Given the description of an element on the screen output the (x, y) to click on. 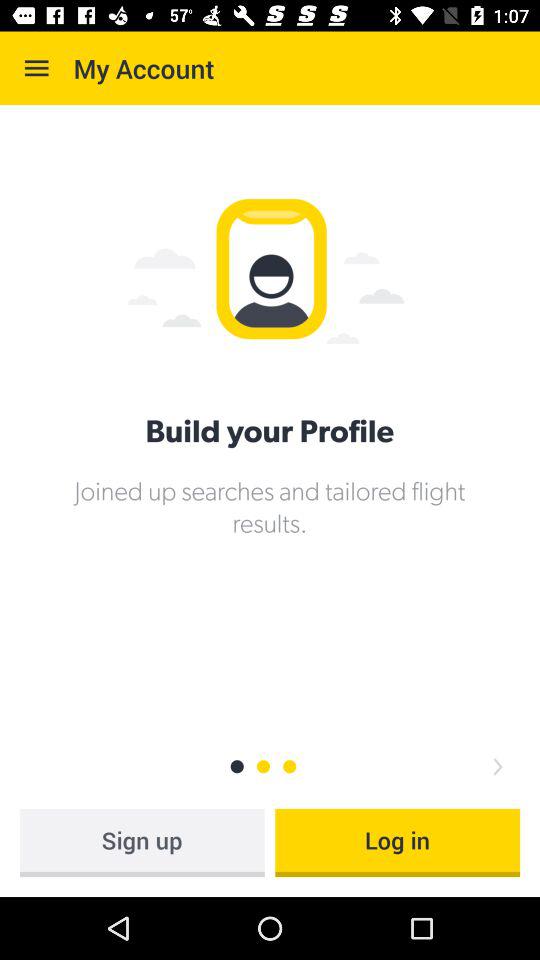
select item next to the log in item (141, 842)
